Given the description of an element on the screen output the (x, y) to click on. 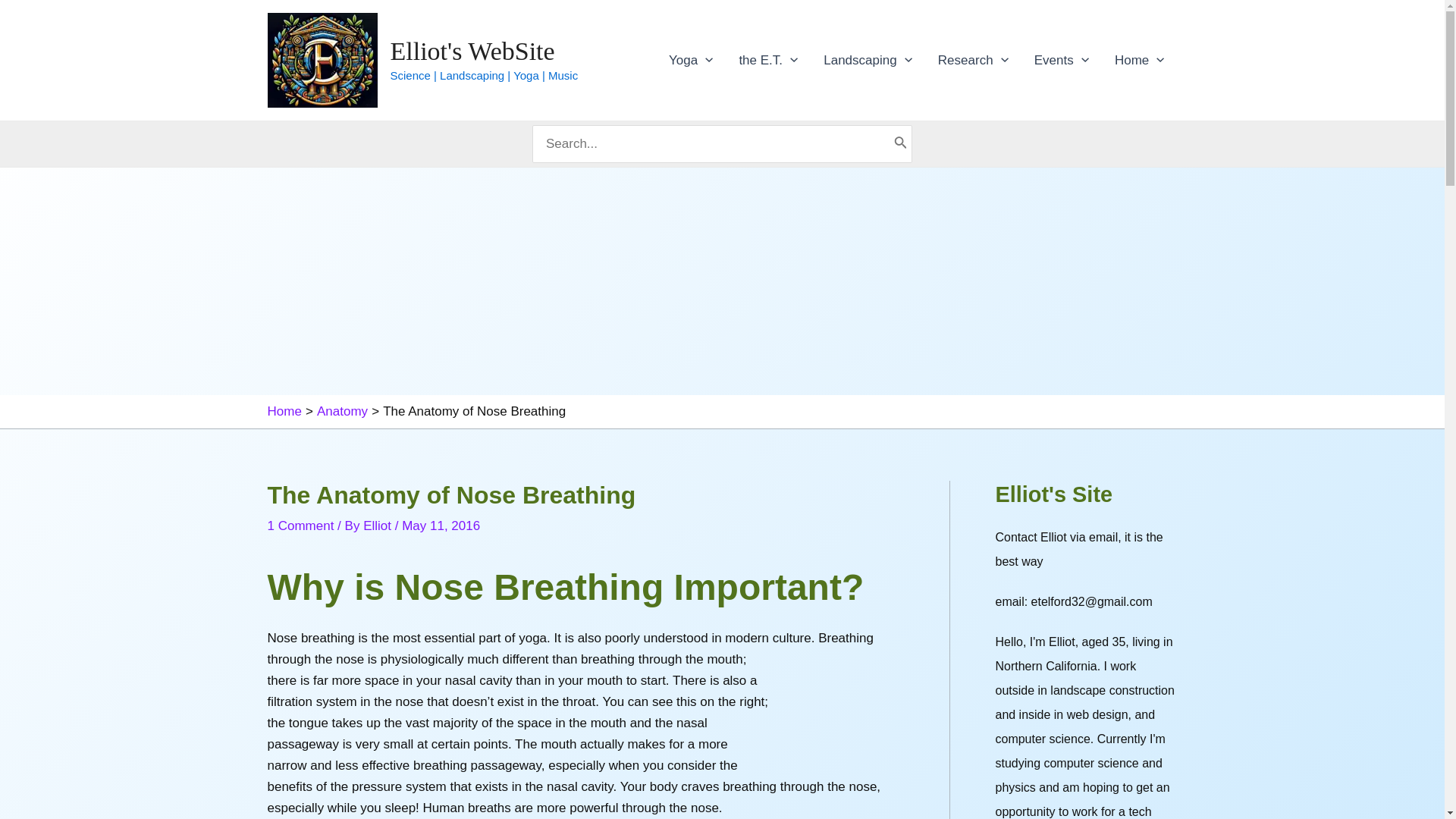
Yoga (690, 59)
Research (973, 59)
the E.T. (767, 59)
Events (1062, 59)
Landscaping (867, 59)
Home (1139, 59)
View all posts by Elliot (378, 525)
Elliot's WebSite (472, 50)
